Given the description of an element on the screen output the (x, y) to click on. 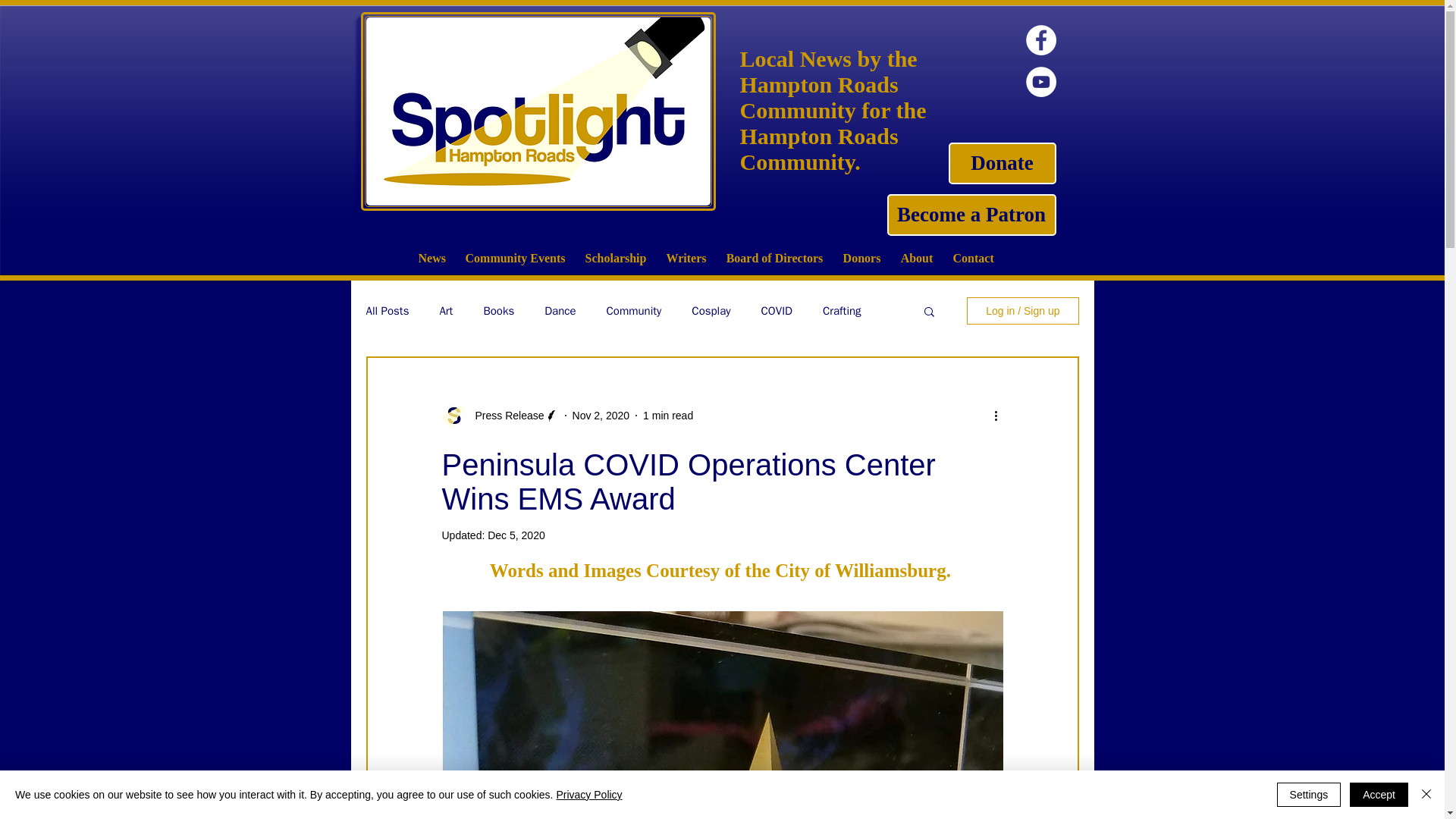
1 min read (668, 415)
News (430, 257)
Dec 5, 2020 (515, 535)
Community Events (514, 257)
Art (445, 310)
About (915, 257)
Cosplay (710, 310)
Dance (559, 310)
Become a Patron (971, 214)
Writers (686, 257)
